Given the description of an element on the screen output the (x, y) to click on. 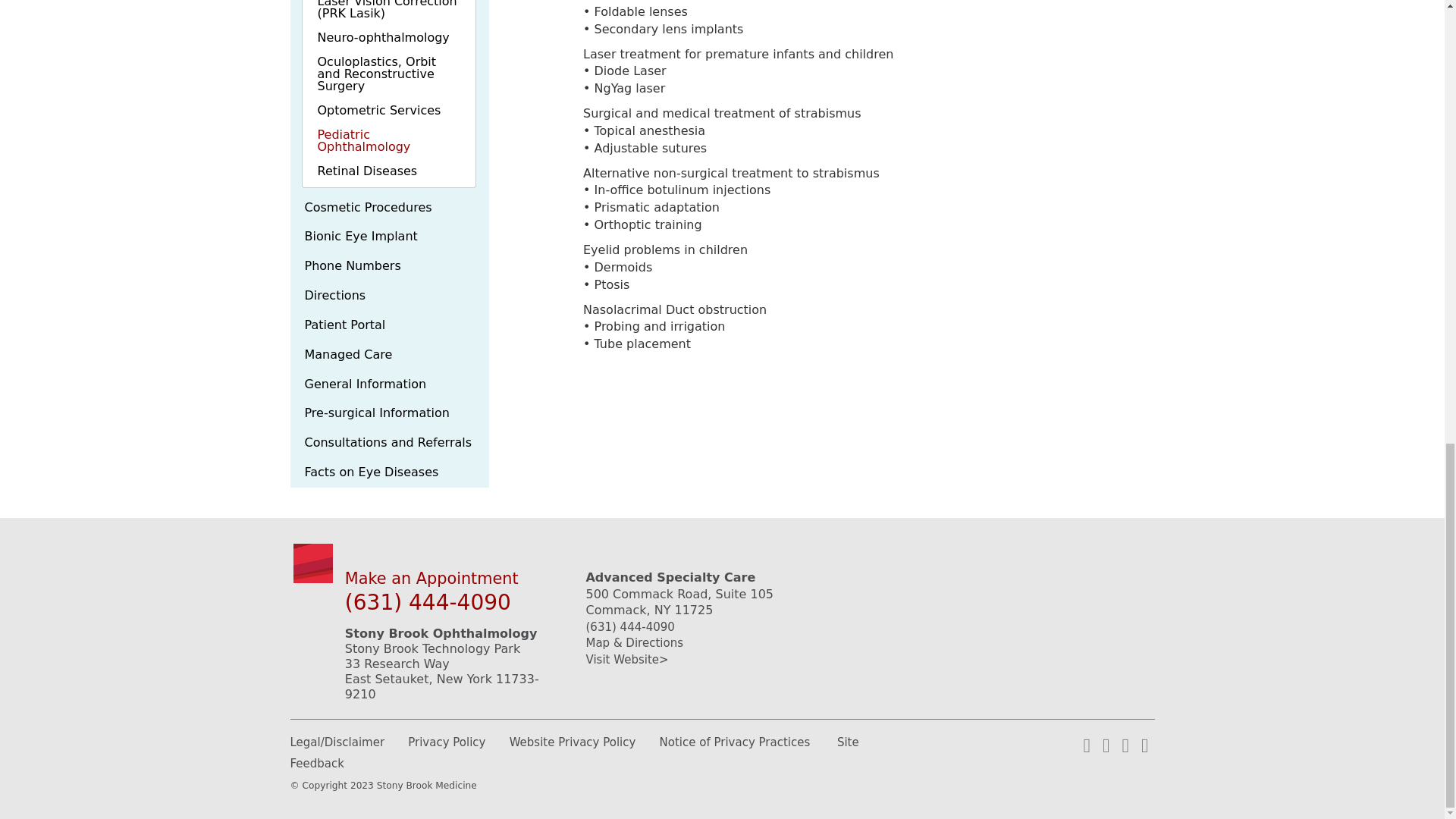
Consultations and Referrals (389, 442)
Pre-surgical Information (389, 413)
Pediatric Ophthalmology (387, 140)
Facts on Eye Diseases (389, 472)
Directions (389, 296)
Phone Numbers (389, 266)
Cosmetic Procedures (389, 111)
Retinal Diseases (387, 170)
Optometric Services (387, 110)
Patient Portal (389, 325)
Bionic Eye Implant (389, 236)
General Information (389, 384)
Managed Care (389, 355)
Neuro-ophthalmology (387, 37)
Oculoplastics, Orbit and Reconstructive Surgery (387, 73)
